Given the description of an element on the screen output the (x, y) to click on. 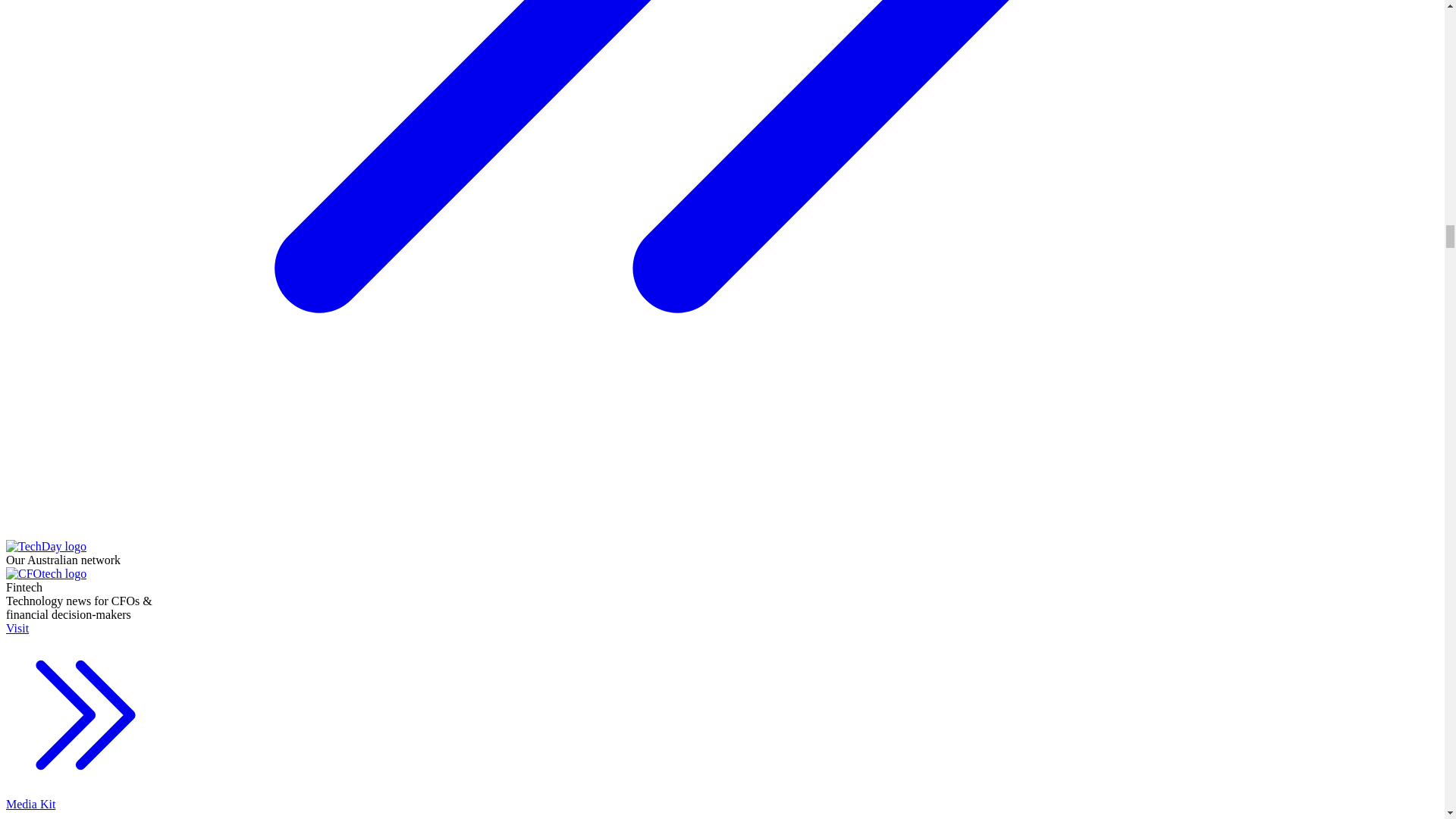
Media Kit (85, 808)
Visit (85, 709)
